Given the description of an element on the screen output the (x, y) to click on. 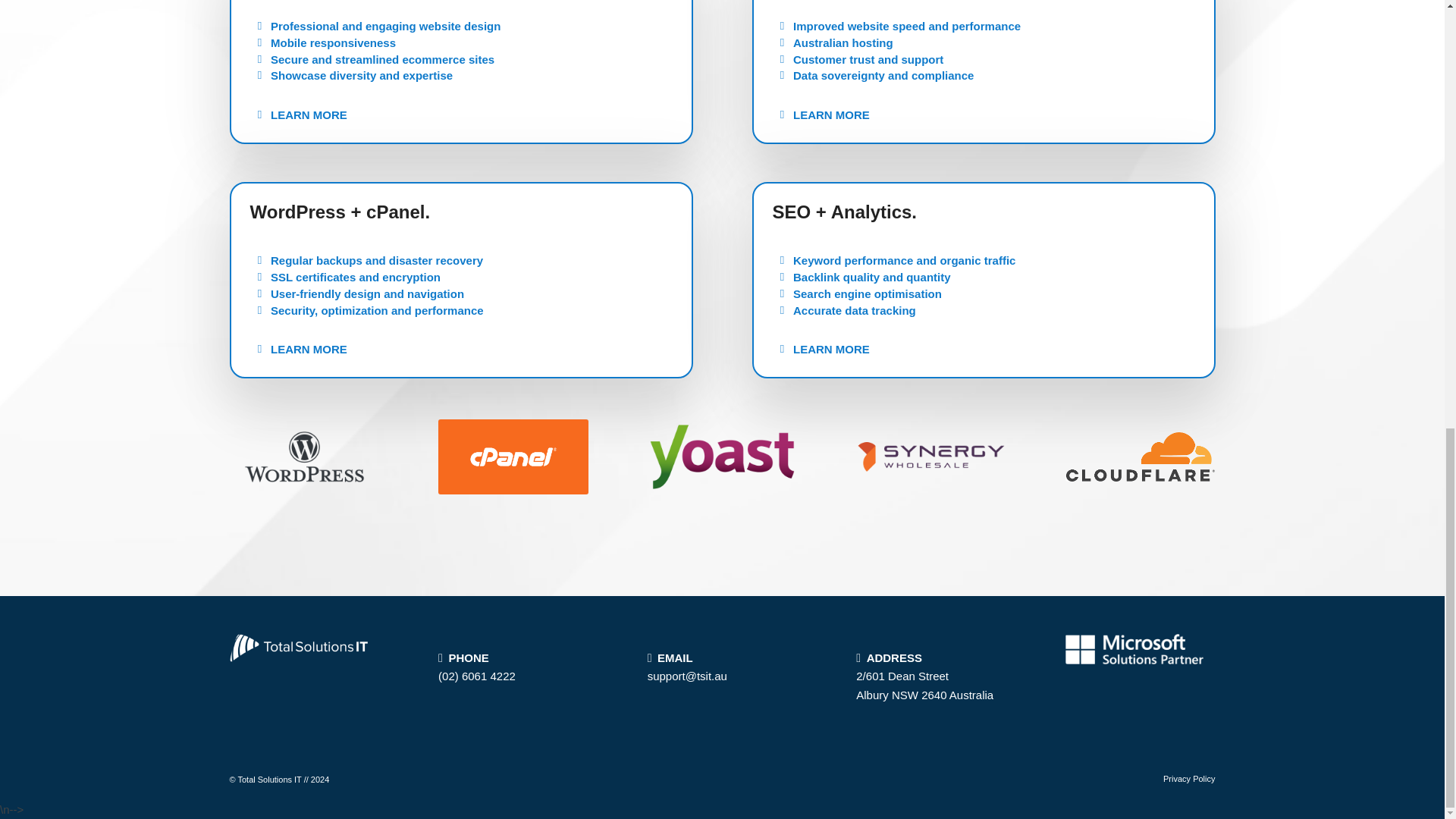
wordpress (303, 456)
synergywholesale (931, 456)
cpanel (513, 456)
cloudflare (1140, 456)
weblogo-300x87-cropped (298, 647)
Microsoft-Solutions-Partner-300x136-cropped (1134, 648)
